Given the description of an element on the screen output the (x, y) to click on. 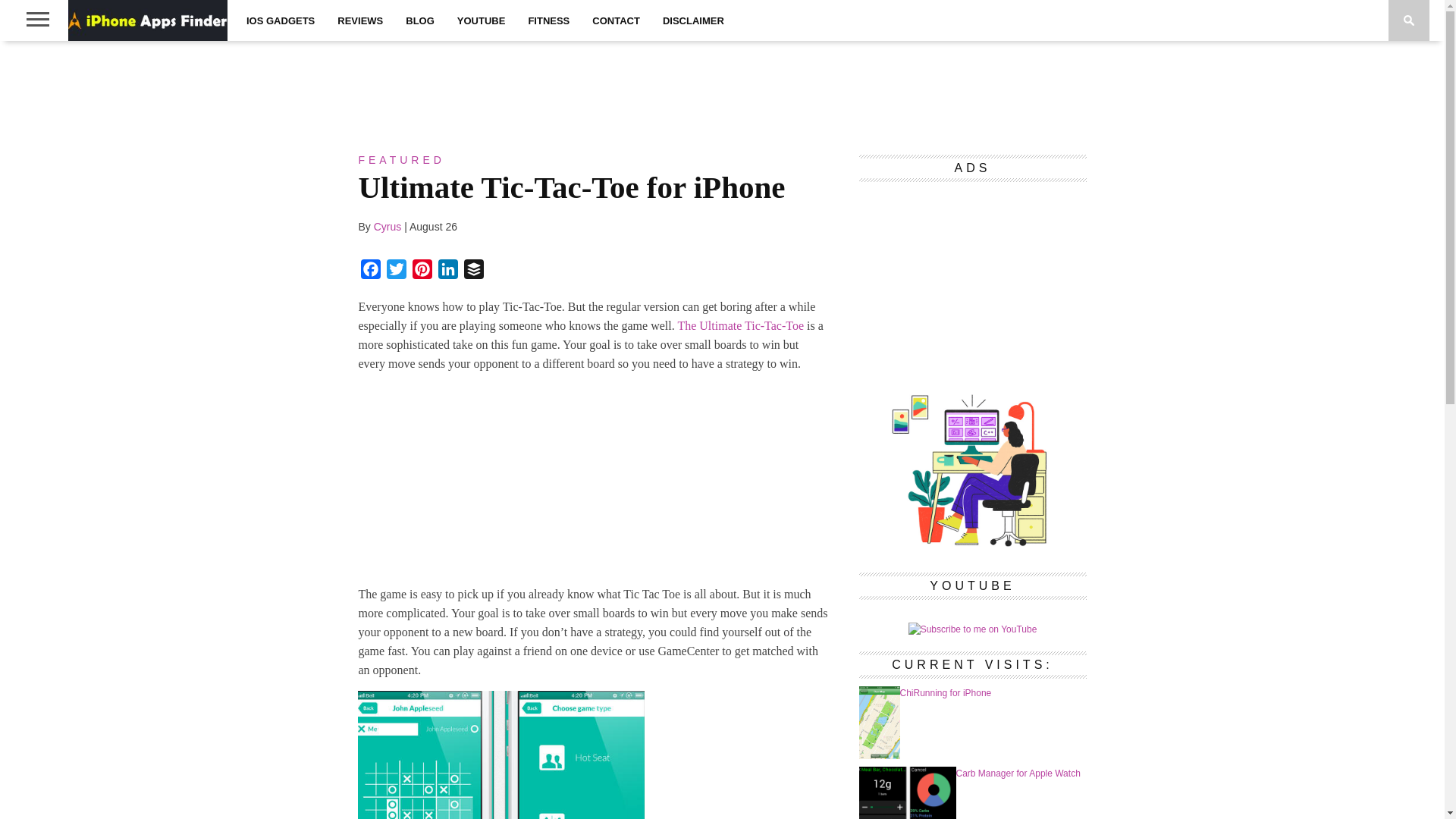
BLOG (419, 20)
FITNESS (548, 20)
Cyrus (387, 226)
DISCLAIMER (692, 20)
Facebook (371, 272)
REVIEWS (360, 20)
Twitter (396, 272)
Posts by Cyrus (387, 226)
Buffer (473, 272)
LinkedIn (448, 272)
YOUTUBE (480, 20)
IOS GADGETS (280, 20)
Facebook (371, 272)
Advertisement (721, 90)
CONTACT (615, 20)
